Given the description of an element on the screen output the (x, y) to click on. 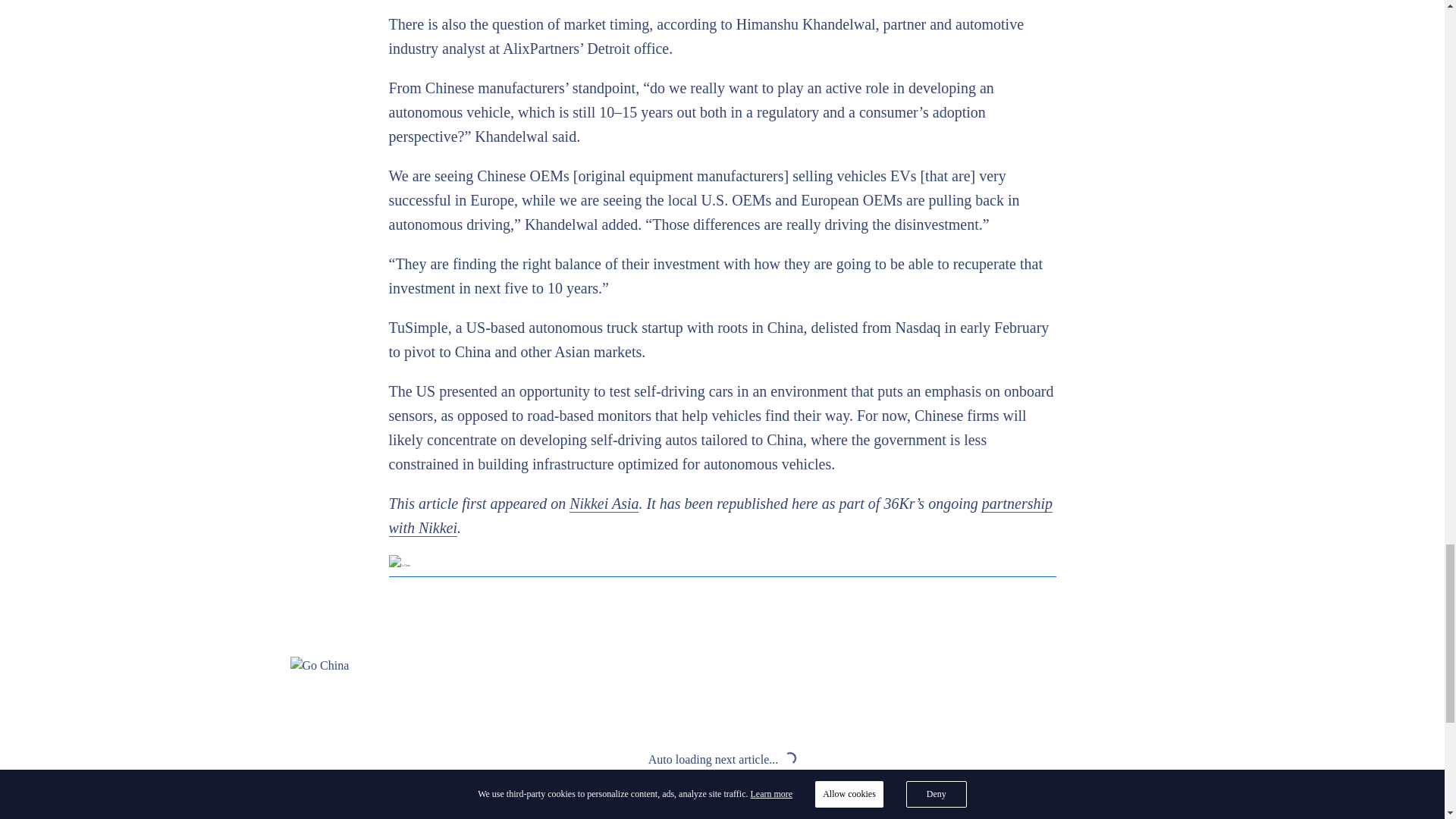
Go China (721, 665)
partnership with Nikkei (720, 516)
Go China (721, 566)
Nikkei Asia (604, 503)
